Given the description of an element on the screen output the (x, y) to click on. 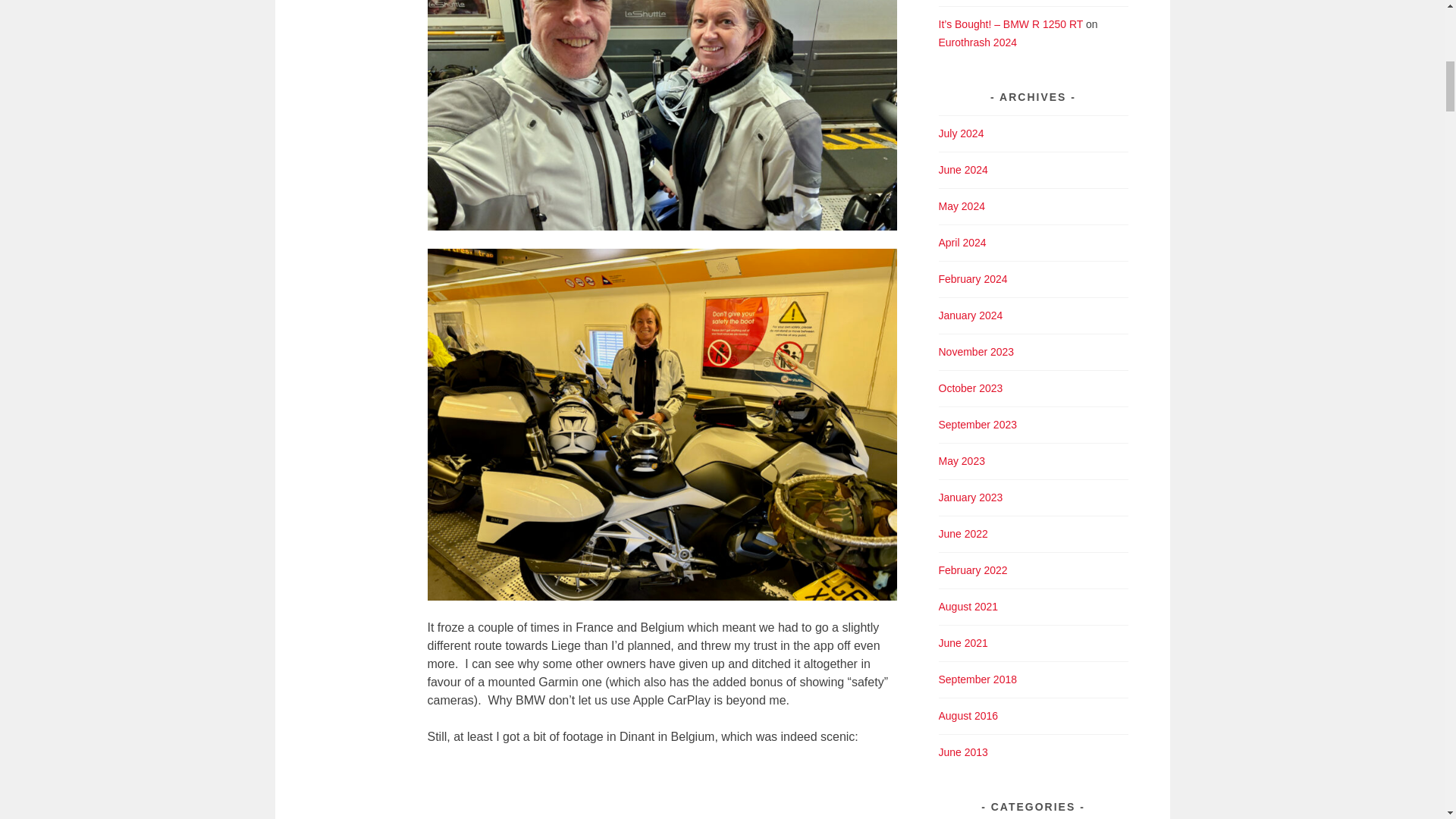
YouTube player (662, 791)
